Given the description of an element on the screen output the (x, y) to click on. 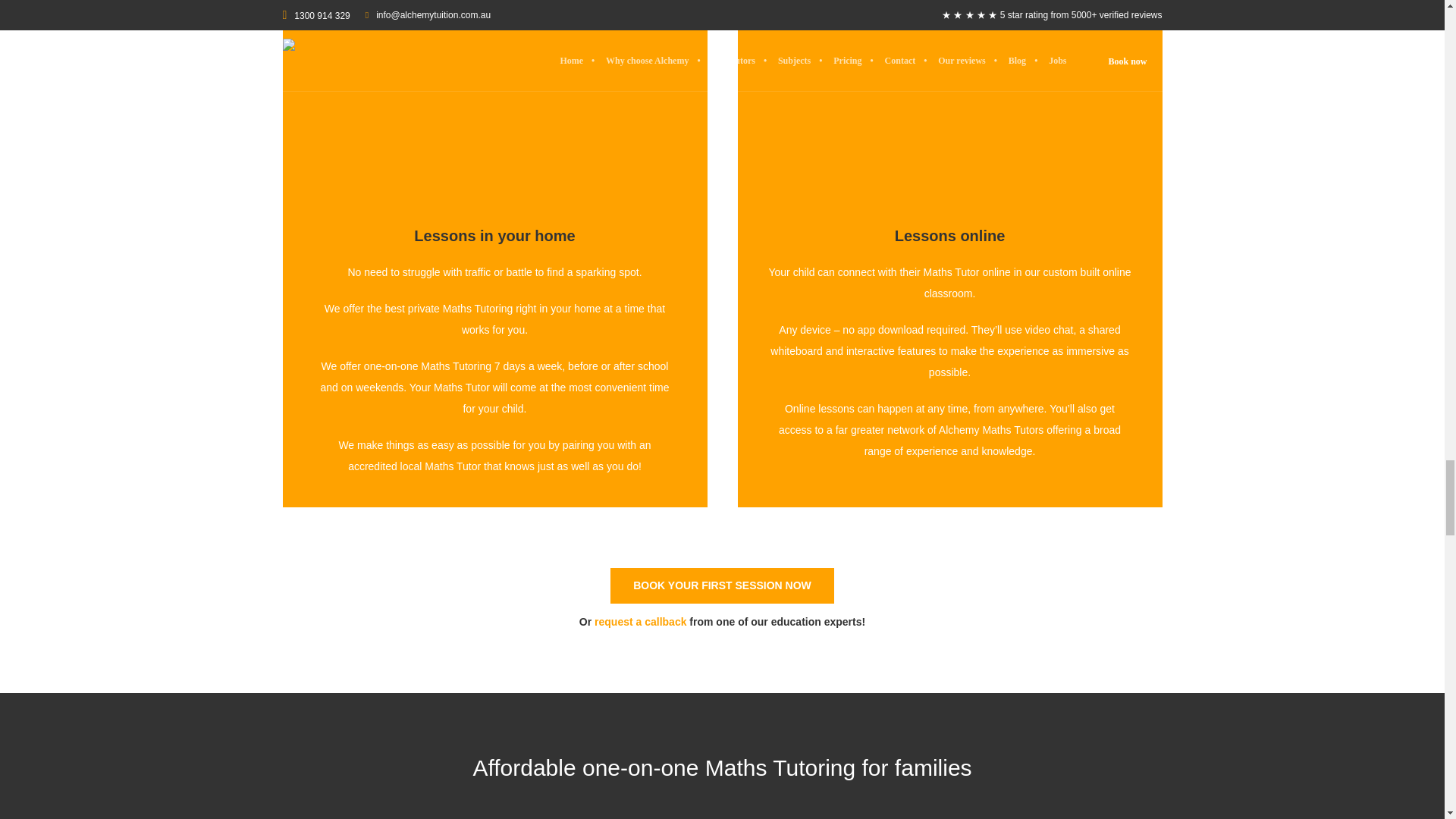
Get started (722, 585)
